Given the description of an element on the screen output the (x, y) to click on. 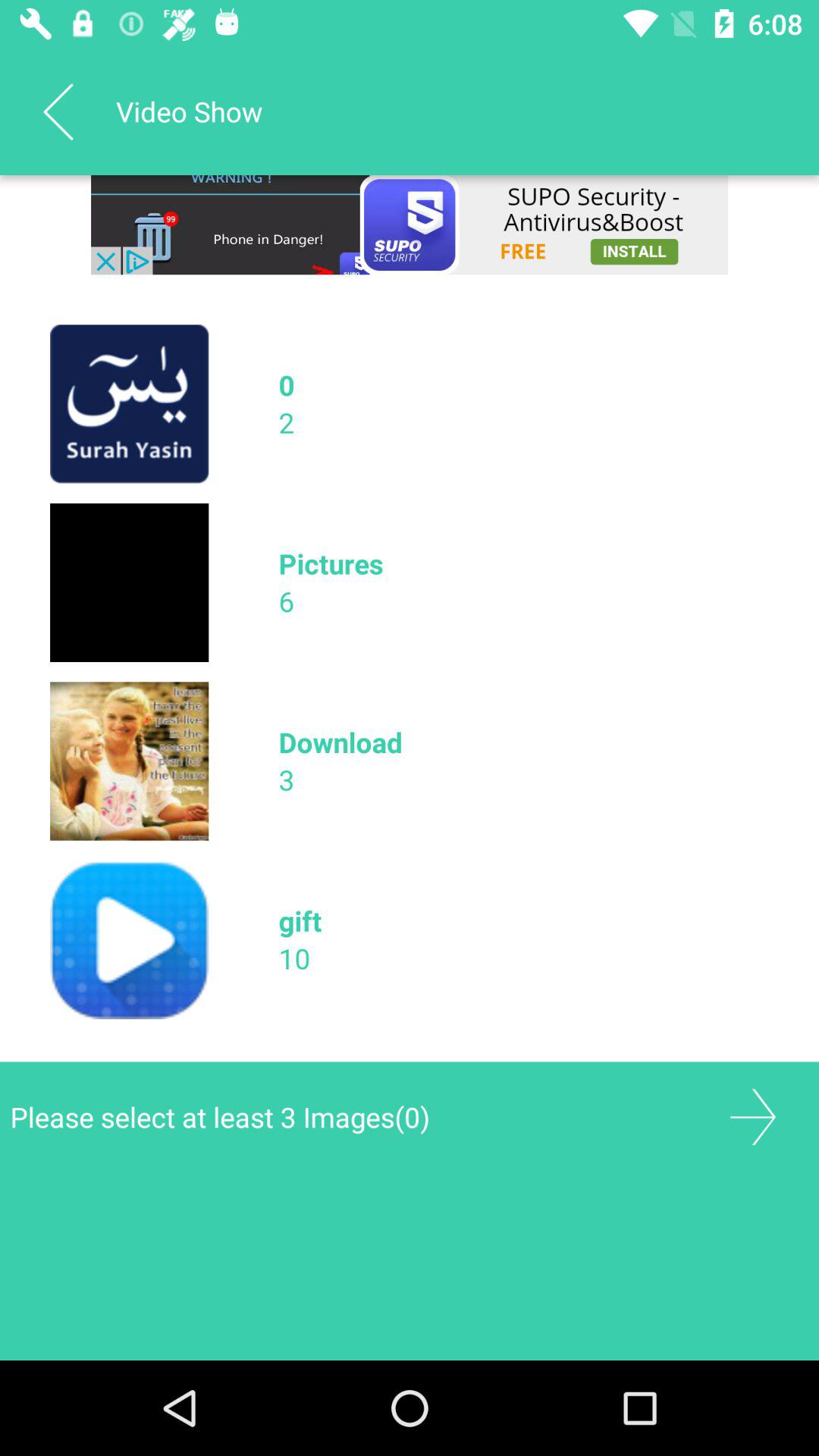
install app (409, 224)
